Given the description of an element on the screen output the (x, y) to click on. 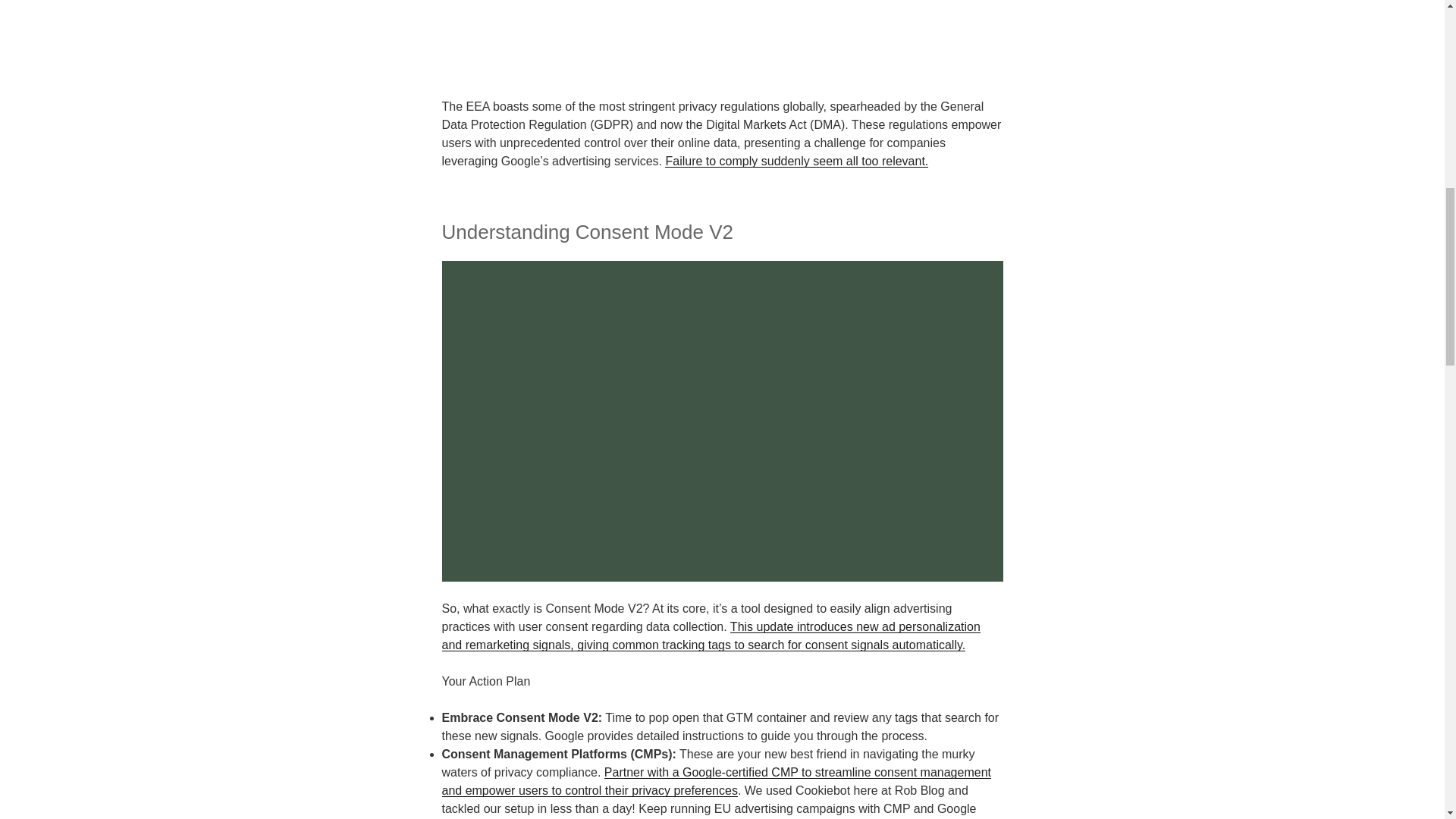
Failure to comply suddenly seem all too relevant. (796, 160)
